Given the description of an element on the screen output the (x, y) to click on. 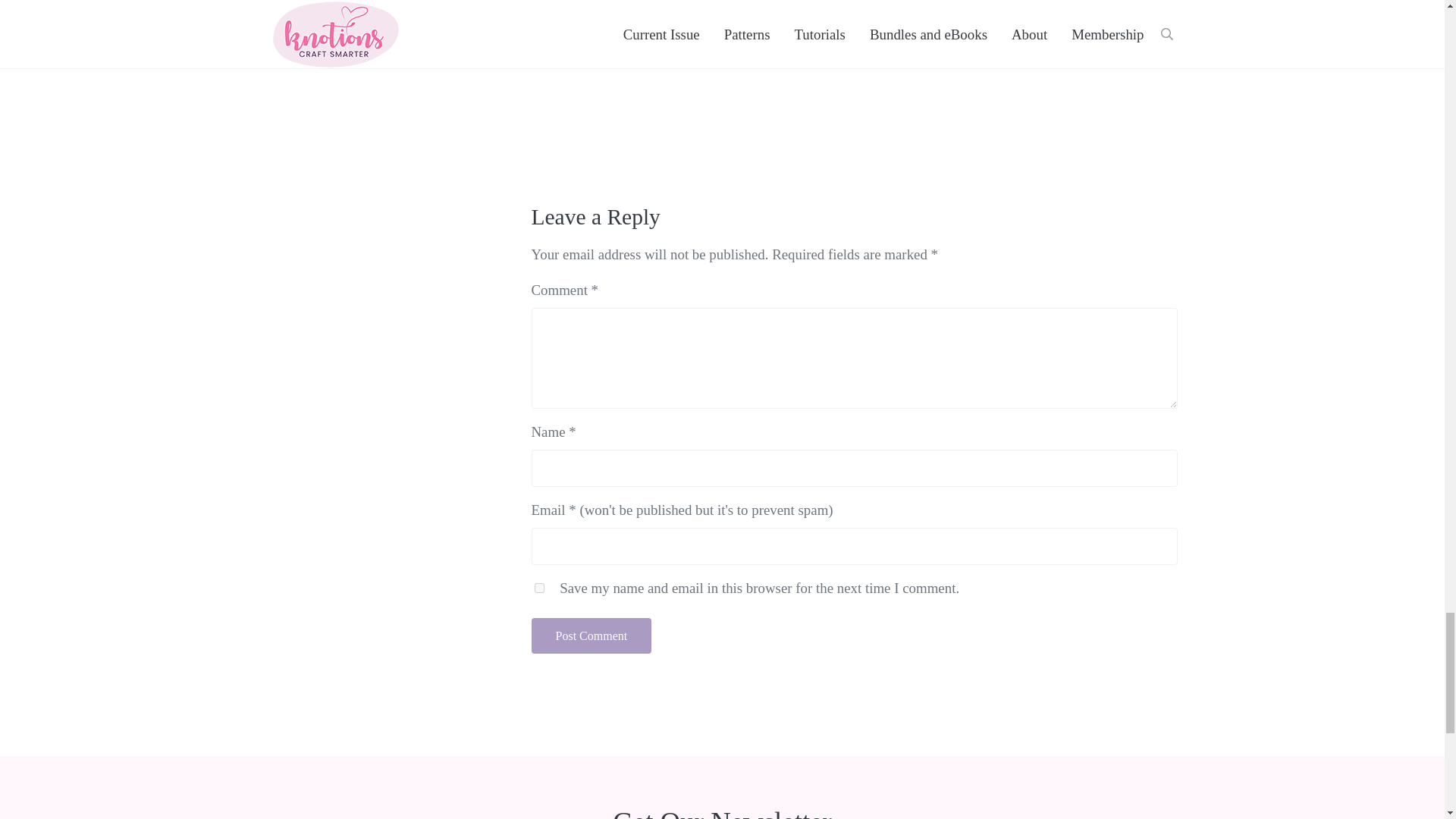
Post Comment (590, 635)
yes (538, 587)
Post Comment (590, 635)
